Given the description of an element on the screen output the (x, y) to click on. 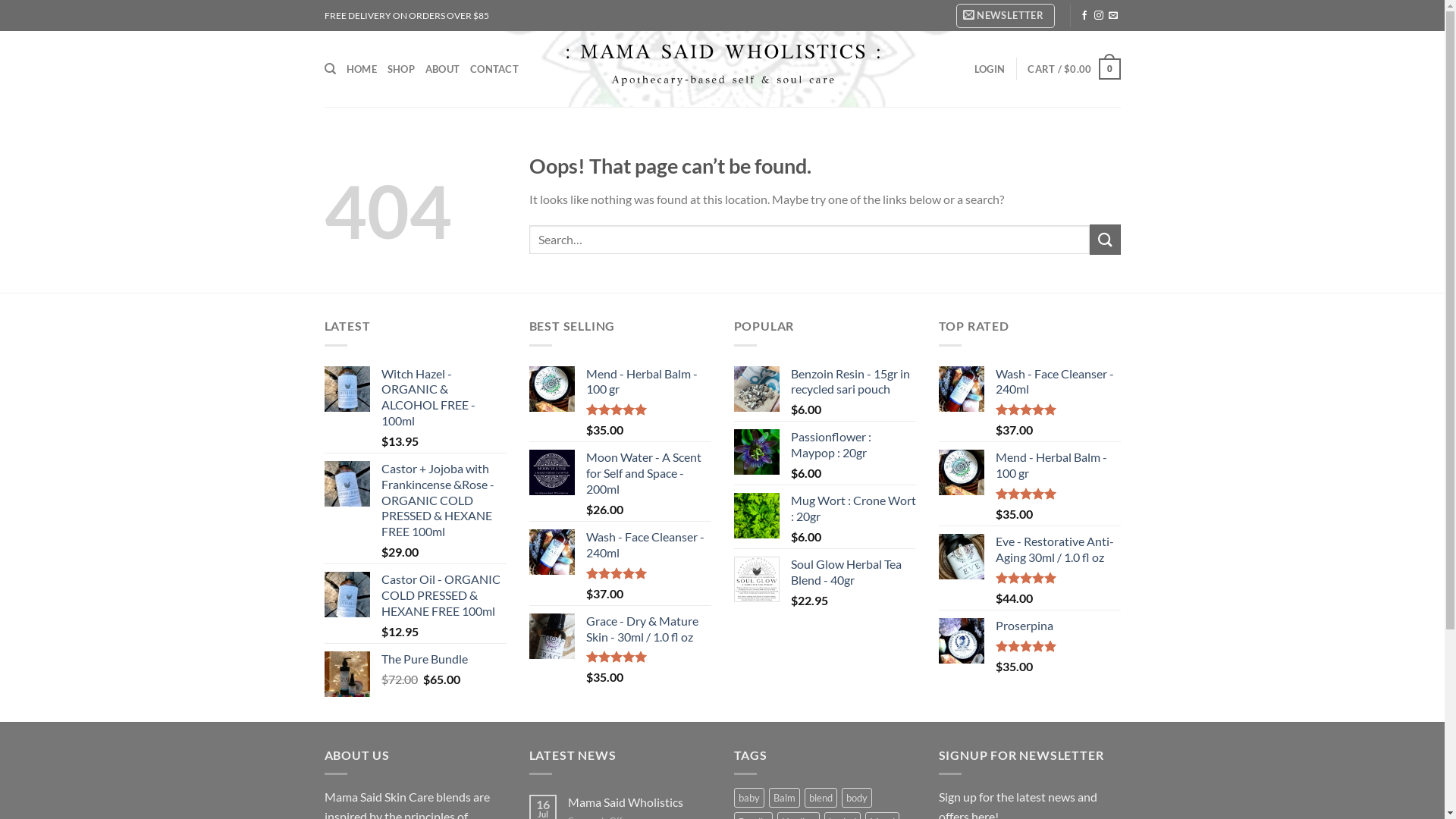
Proserpina Element type: text (1057, 625)
blend Element type: text (819, 797)
baby Element type: text (749, 797)
LOGIN Element type: text (989, 68)
Mug Wort : Crone Wort : 20gr Element type: text (852, 508)
Wash - Face Cleanser - 240ml Element type: text (1057, 382)
Mama Said Wholistics Element type: text (638, 801)
Mama Said Wholistics - Mama Said Wholistics Element type: hover (722, 68)
Eve - Restorative Anti-Aging 30ml / 1.0 fl oz Element type: text (1057, 549)
Moon Water - A Scent for Self and Space - 200ml Element type: text (647, 472)
Castor Oil - ORGANIC COLD PRESSED & HEXANE FREE 100ml Element type: text (442, 594)
Wash - Face Cleanser - 240ml Element type: text (647, 545)
Benzoin Resin - 15gr in recycled sari pouch Element type: text (852, 382)
body Element type: text (856, 797)
Balm Element type: text (784, 797)
ABOUT Element type: text (442, 68)
SHOP Element type: text (400, 68)
CART / $0.00
0 Element type: text (1073, 68)
Passionflower : Maypop : 20gr Element type: text (852, 445)
Soul Glow Herbal Tea Blend - 40gr Element type: text (852, 572)
Mend - Herbal Balm - 100 gr Element type: text (647, 382)
CONTACT Element type: text (494, 68)
Mend - Herbal Balm - 100 gr Element type: text (1057, 465)
The Pure Bundle Element type: text (442, 659)
Witch Hazel - ORGANIC & ALCOHOL FREE - 100ml Element type: text (442, 397)
HOME Element type: text (361, 68)
Grace - Dry & Mature Skin - 30ml / 1.0 fl oz Element type: text (647, 629)
NEWSLETTER Element type: text (1005, 15)
